Given the description of an element on the screen output the (x, y) to click on. 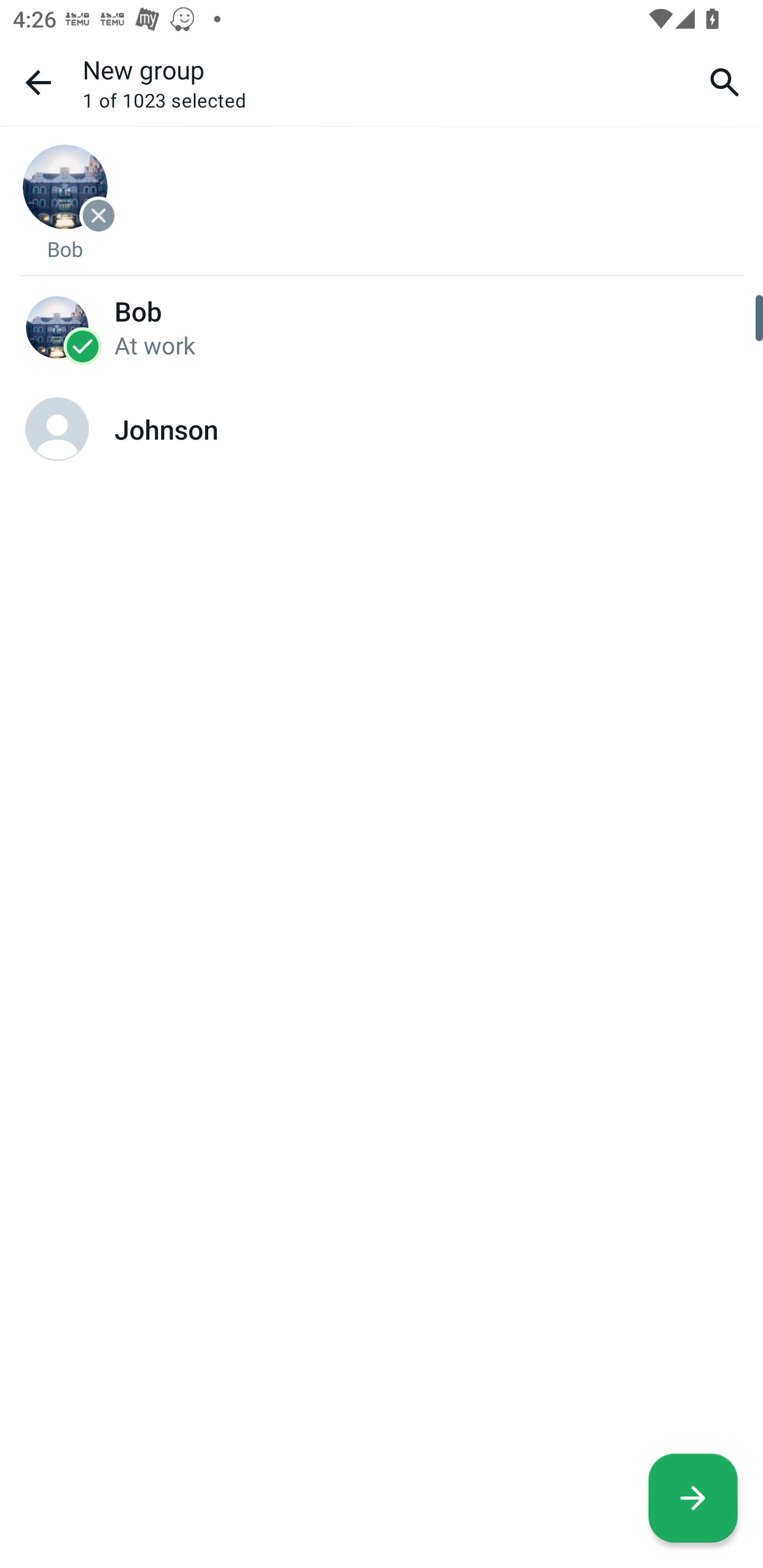
Navigate up (38, 82)
Search (724, 81)
Bob is selected Remove Bob (65, 202)
Bob Selected Bob ‎At work (381, 326)
Johnson (381, 428)
Next (692, 1497)
